Given the description of an element on the screen output the (x, y) to click on. 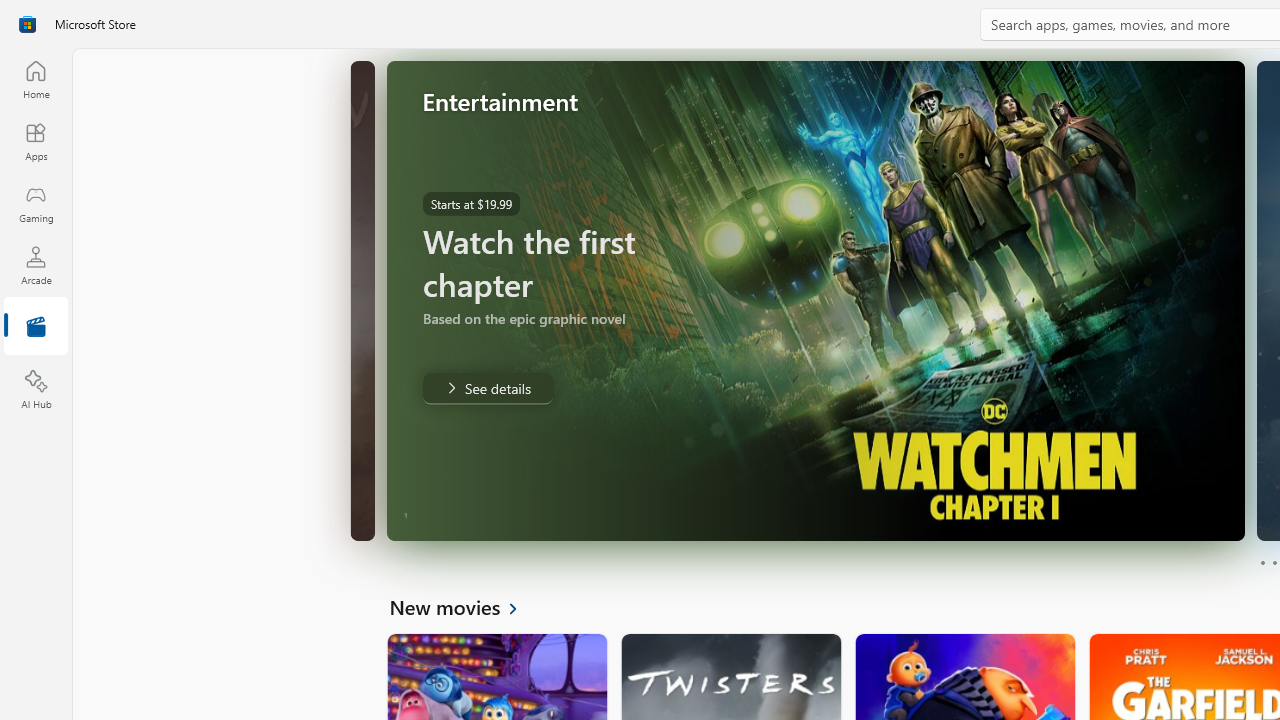
Entertainment (35, 327)
Arcade (35, 265)
Page 1 (1261, 562)
Page 2 (1274, 562)
Home (35, 79)
AI Hub (35, 390)
See all  New movies (464, 606)
Class: Image (27, 24)
Gaming (35, 203)
AutomationID: Image (836, 300)
